Given the description of an element on the screen output the (x, y) to click on. 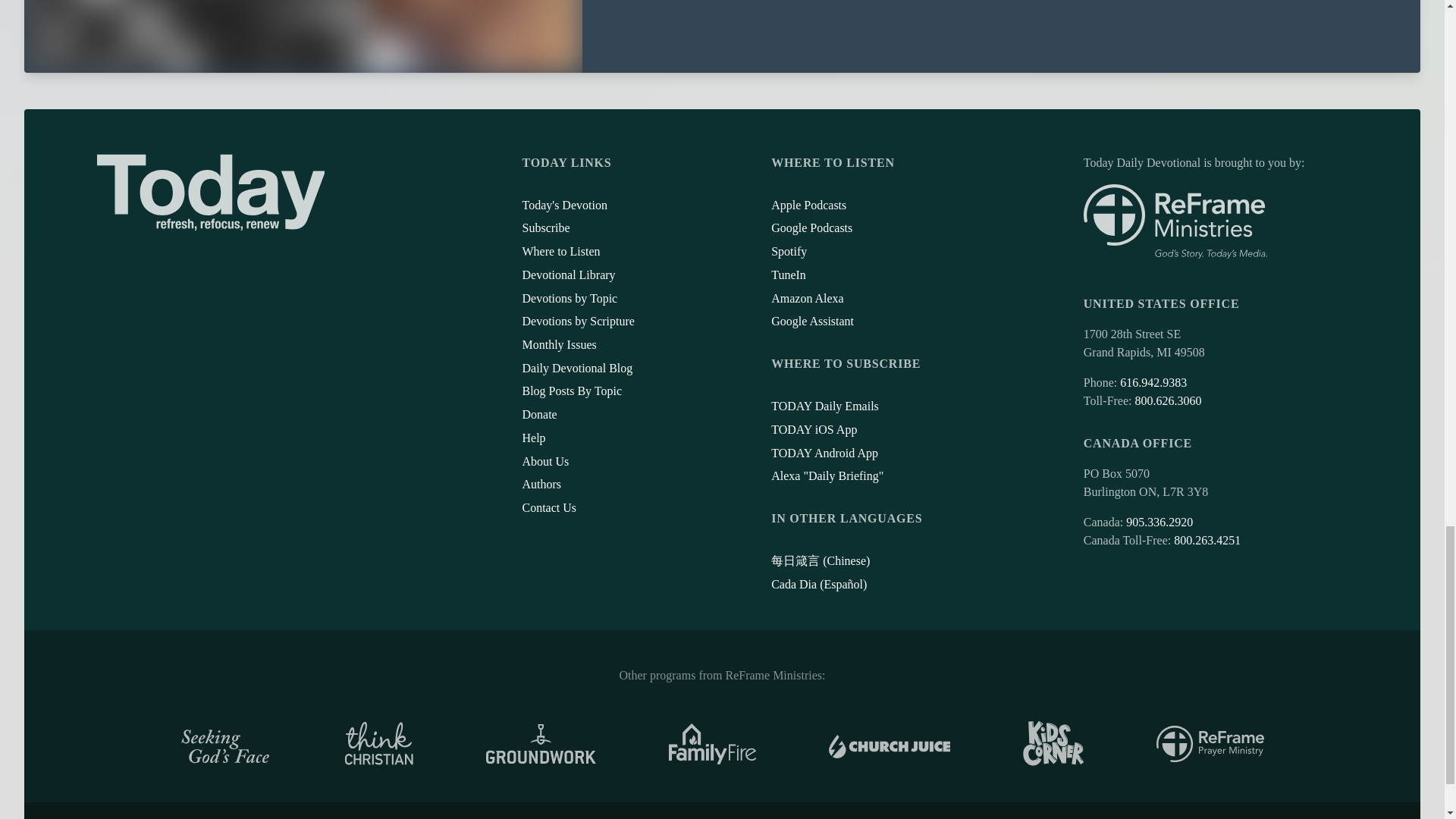
ReFrame Ministries: God's story. Today's media. (1174, 221)
Prayer Ministry (1209, 743)
Today Daily Devotional (210, 191)
Authors (540, 483)
Today's Devotion (564, 205)
Blog Posts By Topic (571, 390)
About Us (545, 461)
Donate (538, 413)
Devotions by Topic (569, 297)
Monthly Issues (558, 344)
Church Juice - Energizing Church Communications (888, 743)
Where to Listen (560, 250)
Daily Devotional Blog (576, 367)
Devotions by Scripture (577, 320)
